Given the description of an element on the screen output the (x, y) to click on. 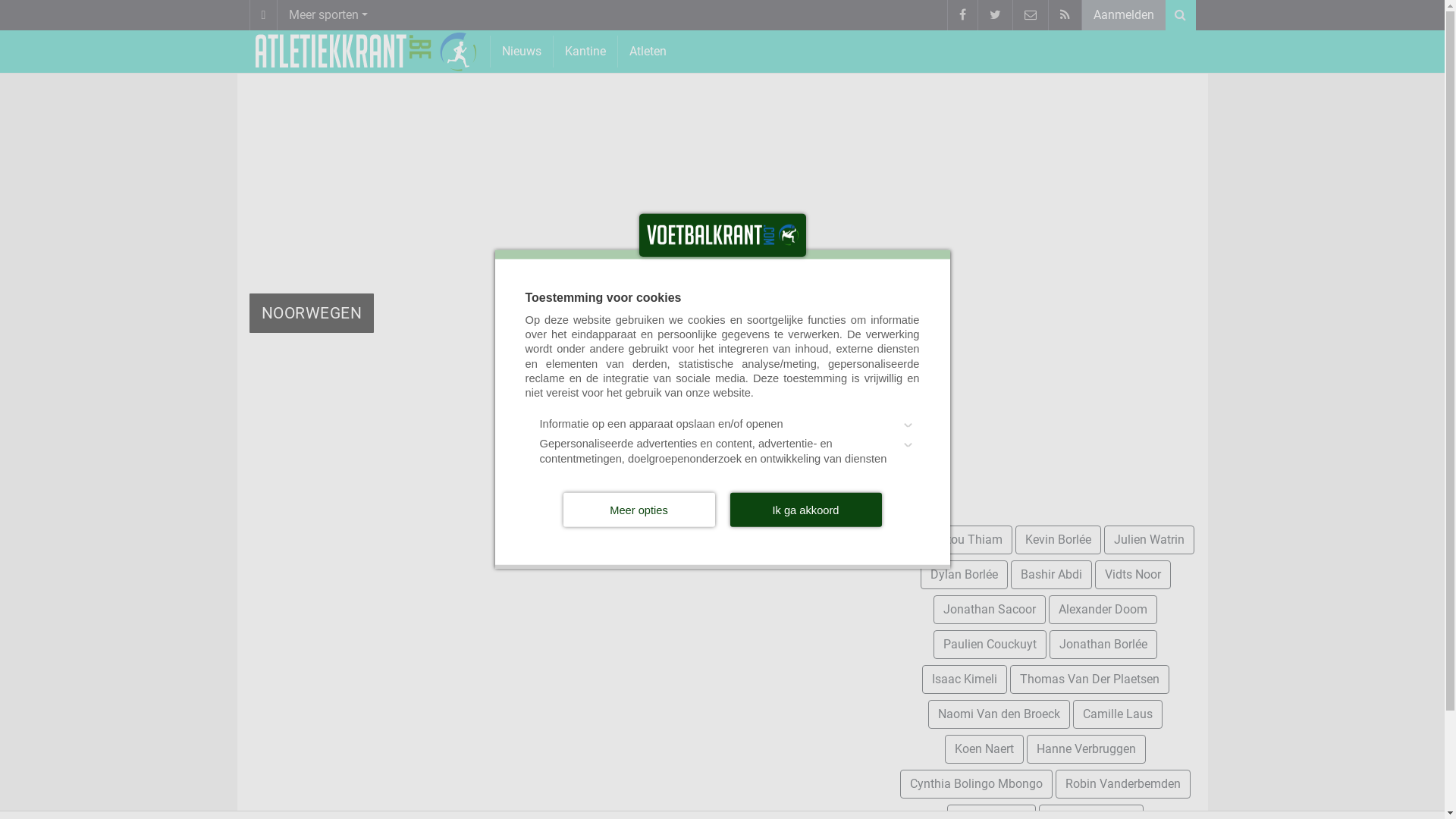
Cynthia Bolingo Mbongo Element type: text (976, 783)
Vidts Noor Element type: text (1132, 574)
Zoeken Element type: hover (1179, 15)
Bashir Abdi Element type: text (1050, 574)
Contacteer ons Element type: hover (1029, 15)
Hanne Verbruggen Element type: text (1085, 748)
Twitter Element type: hover (993, 15)
Nieuws Element type: text (520, 50)
Isaac Kimeli Element type: text (964, 679)
Aanmelden Element type: text (1123, 15)
Koen Naert Element type: text (983, 748)
Ik ga akkoord Element type: text (805, 509)
Facebook Element type: hover (961, 15)
Julien Watrin Element type: text (1149, 539)
Naomi Van den Broeck Element type: text (999, 713)
Atleten Element type: text (647, 50)
Kantine Element type: text (585, 50)
Paulien Couckuyt Element type: text (989, 644)
Jonathan Sacoor Element type: text (989, 609)
Thomas Van Der Plaetsen Element type: text (1089, 679)
Meer opties Element type: text (638, 509)
Meer sporten Element type: text (327, 15)
Nafissatou Thiam Element type: text (954, 539)
Robin Vanderbemden Element type: text (1122, 783)
RSS Feed Element type: hover (1064, 15)
Alexander Doom Element type: text (1102, 609)
Camille Laus Element type: text (1117, 713)
